Given the description of an element on the screen output the (x, y) to click on. 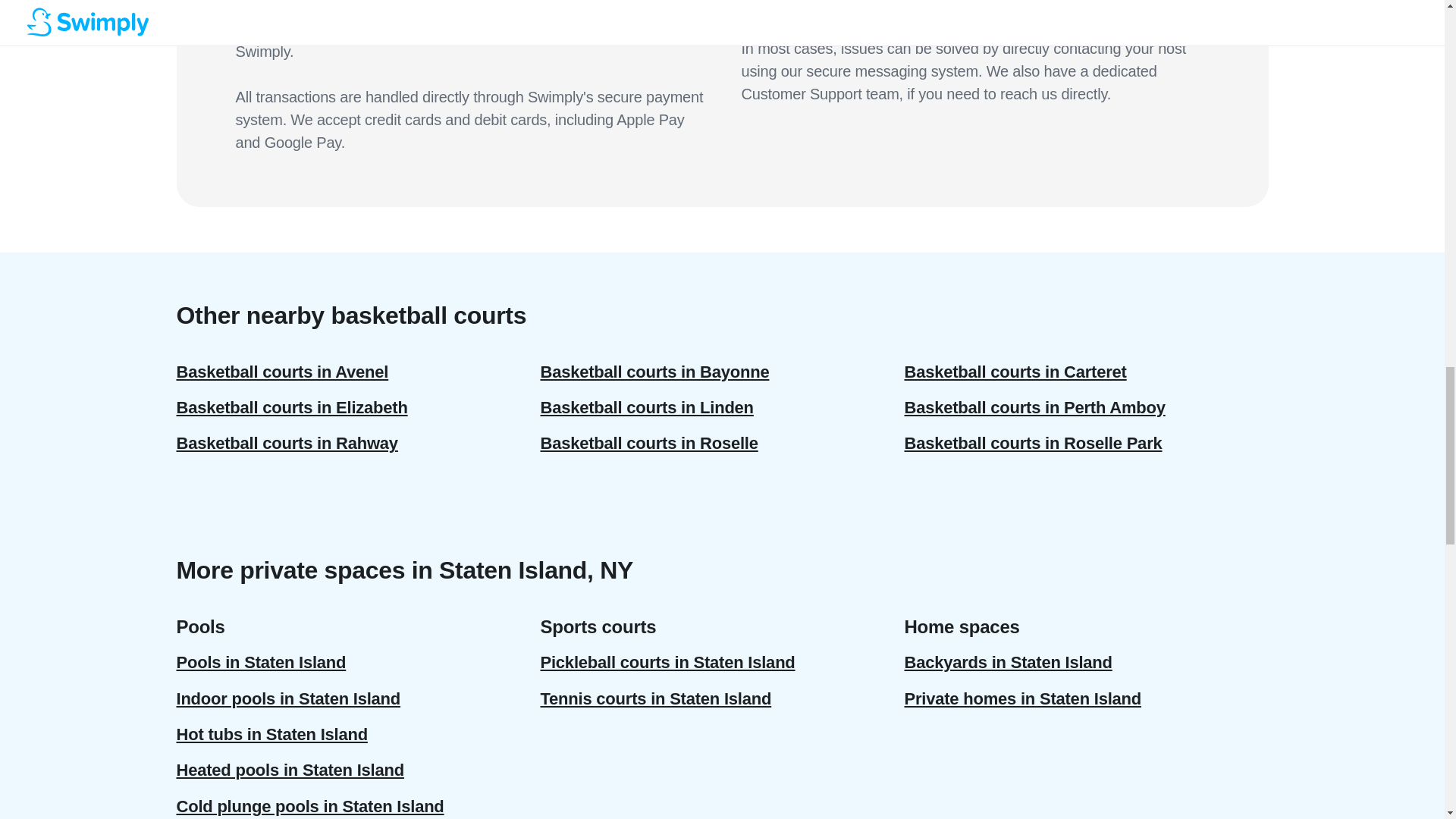
List a Pool (56, 24)
List Basketball (66, 65)
Host Resources Center (85, 79)
List Tennis (57, 38)
Portland (50, 223)
New York (55, 210)
Top Pool Cleaners (74, 92)
List Pickleball (65, 51)
Neighbor Support (73, 144)
Los Angeles (60, 196)
